Given the description of an element on the screen output the (x, y) to click on. 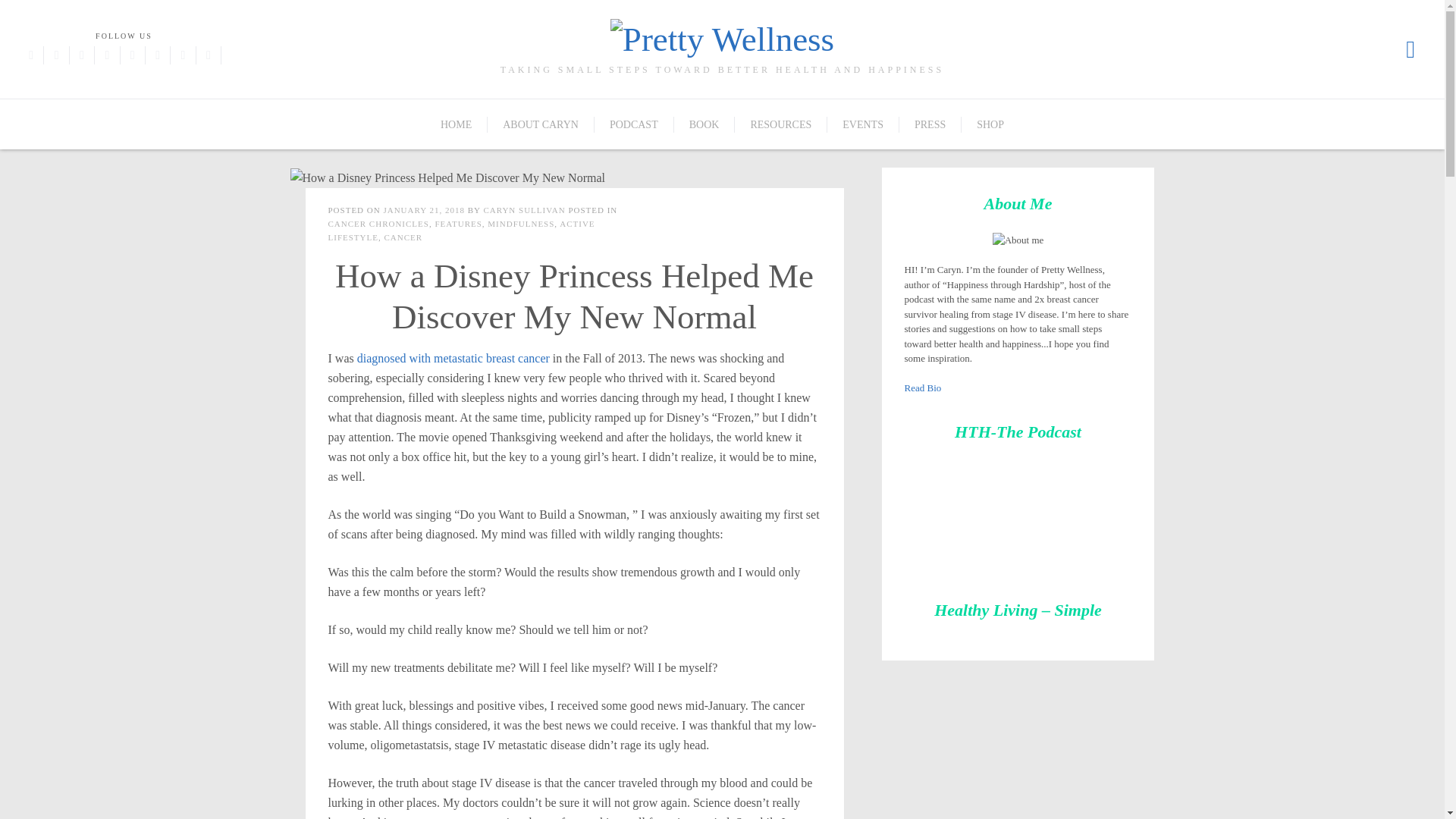
FEATURES (457, 223)
BOOK (704, 124)
PRESS (929, 124)
SHOP (989, 124)
HOME (456, 124)
diagnosed with metastatic breast cancer (453, 358)
JANUARY 21, 2018 (423, 209)
MINDFULNESS (520, 223)
Instagram (82, 54)
RESOURCES (781, 124)
